Given the description of an element on the screen output the (x, y) to click on. 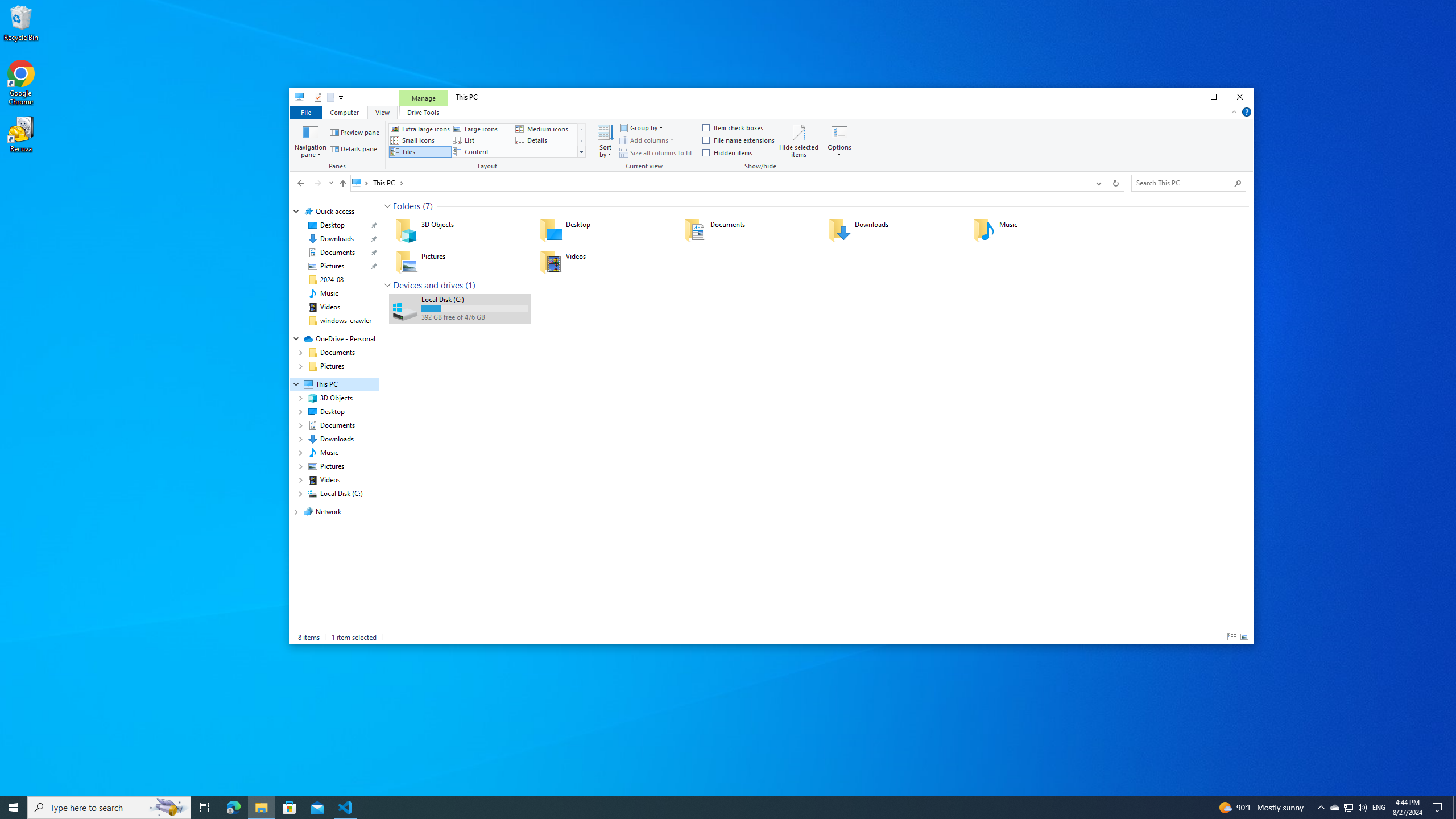
Previous Locations (1097, 182)
Current view (645, 145)
Options (840, 150)
Extra large icons (419, 129)
Row up (580, 129)
Large Icons (1243, 636)
New folder (330, 96)
Preview pane (354, 132)
Quick access (334, 211)
Views (580, 151)
